Given the description of an element on the screen output the (x, y) to click on. 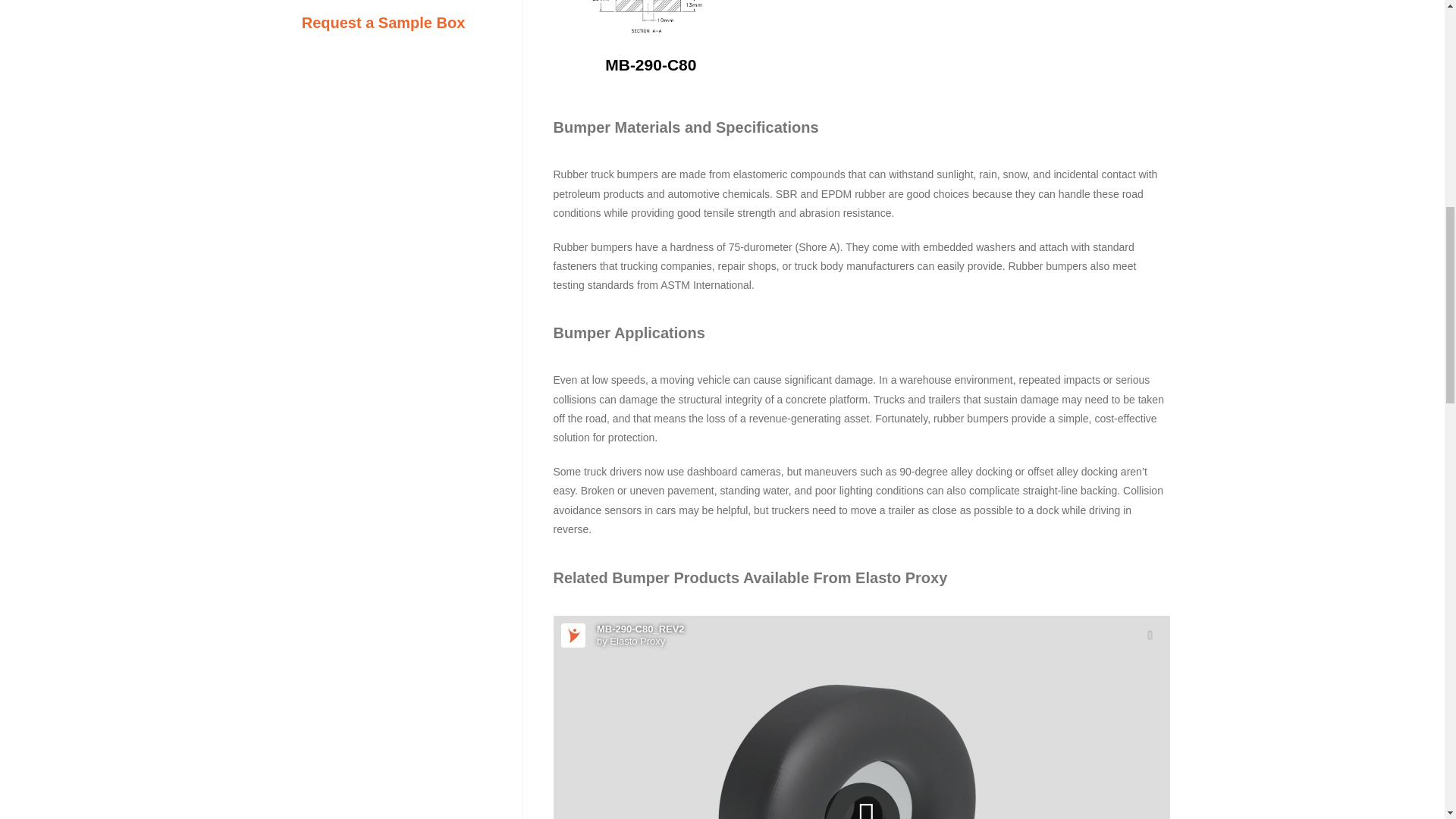
Elasto Proxy - Bumper Products (861, 717)
